Given the description of an element on the screen output the (x, y) to click on. 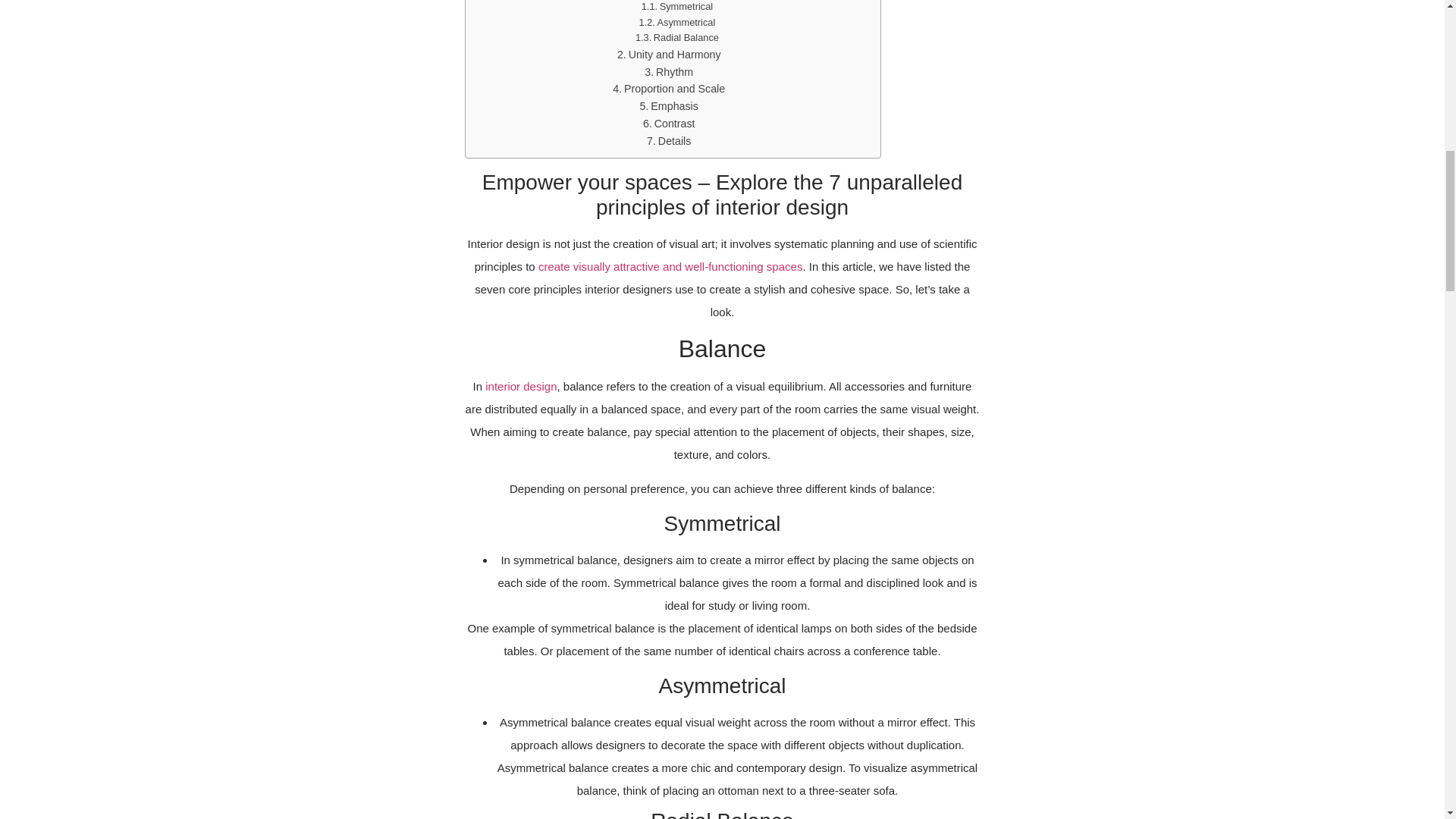
Contrast (669, 123)
Symmetrical (677, 7)
Rhythm (669, 72)
Unity and Harmony (668, 54)
Details (668, 140)
Radial Balance (676, 37)
Emphasis (669, 106)
Asymmetrical (677, 23)
Proportion and Scale (668, 88)
